Given the description of an element on the screen output the (x, y) to click on. 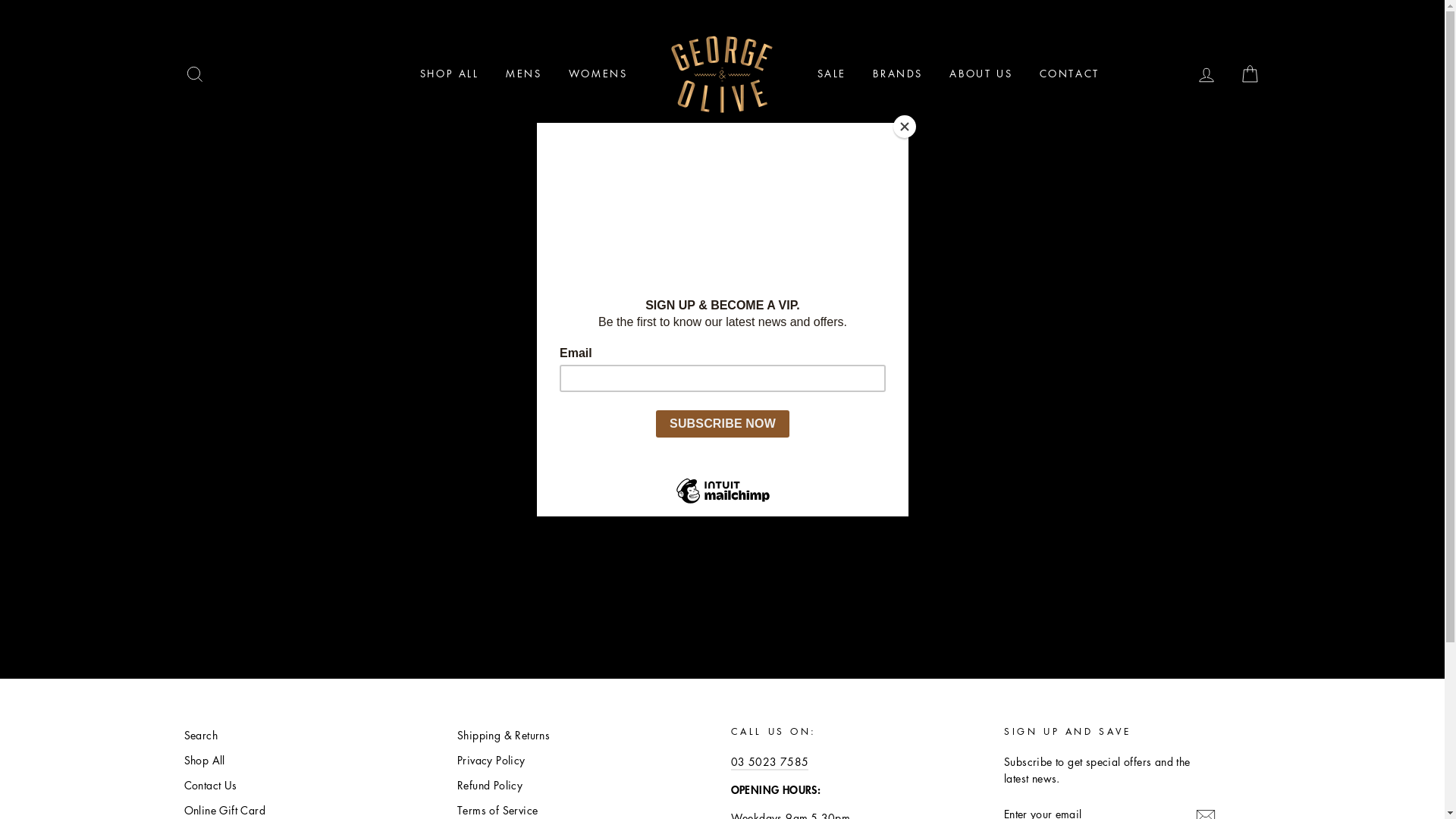
Continue shopping Element type: text (722, 339)
Shop All Element type: text (203, 760)
Refund Policy Element type: text (489, 785)
Privacy Policy Element type: text (491, 760)
SHOP ALL Element type: text (449, 73)
SEARCH Element type: text (193, 73)
Skip to content Element type: text (0, 0)
Shipping & Returns Element type: text (503, 735)
Contact Us Element type: text (209, 785)
MENS Element type: text (523, 73)
BRANDS Element type: text (897, 73)
03 5023 7585 Element type: text (770, 761)
LOG IN Element type: text (1206, 73)
WOMENS Element type: text (598, 73)
ABOUT US Element type: text (980, 73)
CART Element type: text (1249, 73)
Search Element type: text (199, 735)
SALE Element type: text (830, 73)
CONTACT Element type: text (1069, 73)
